Given the description of an element on the screen output the (x, y) to click on. 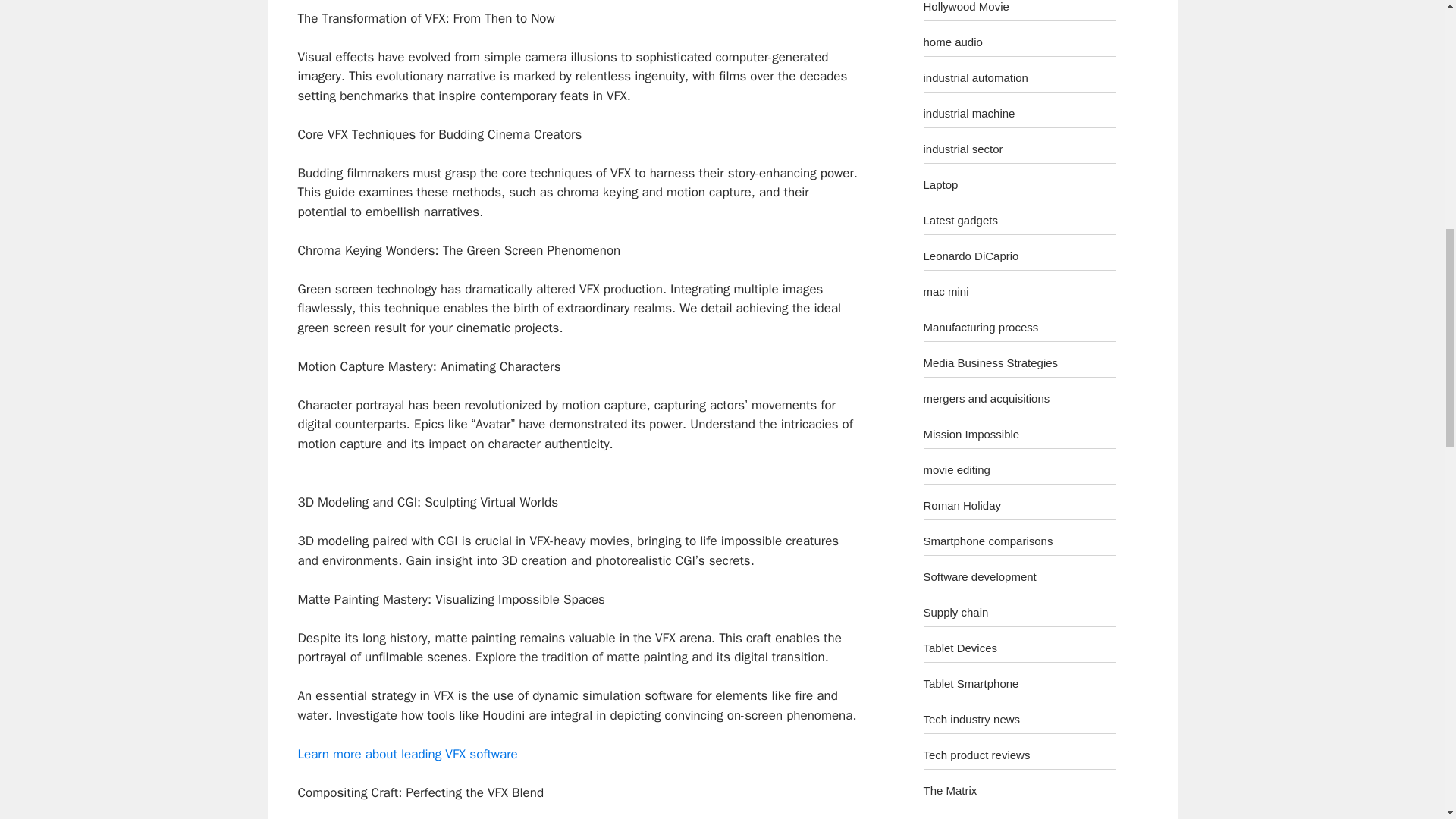
industrial machine (968, 112)
Learn more about leading VFX software (406, 754)
Scroll back to top (1406, 720)
Hollywood Movie (966, 6)
home audio (952, 41)
industrial automation (975, 77)
